Given the description of an element on the screen output the (x, y) to click on. 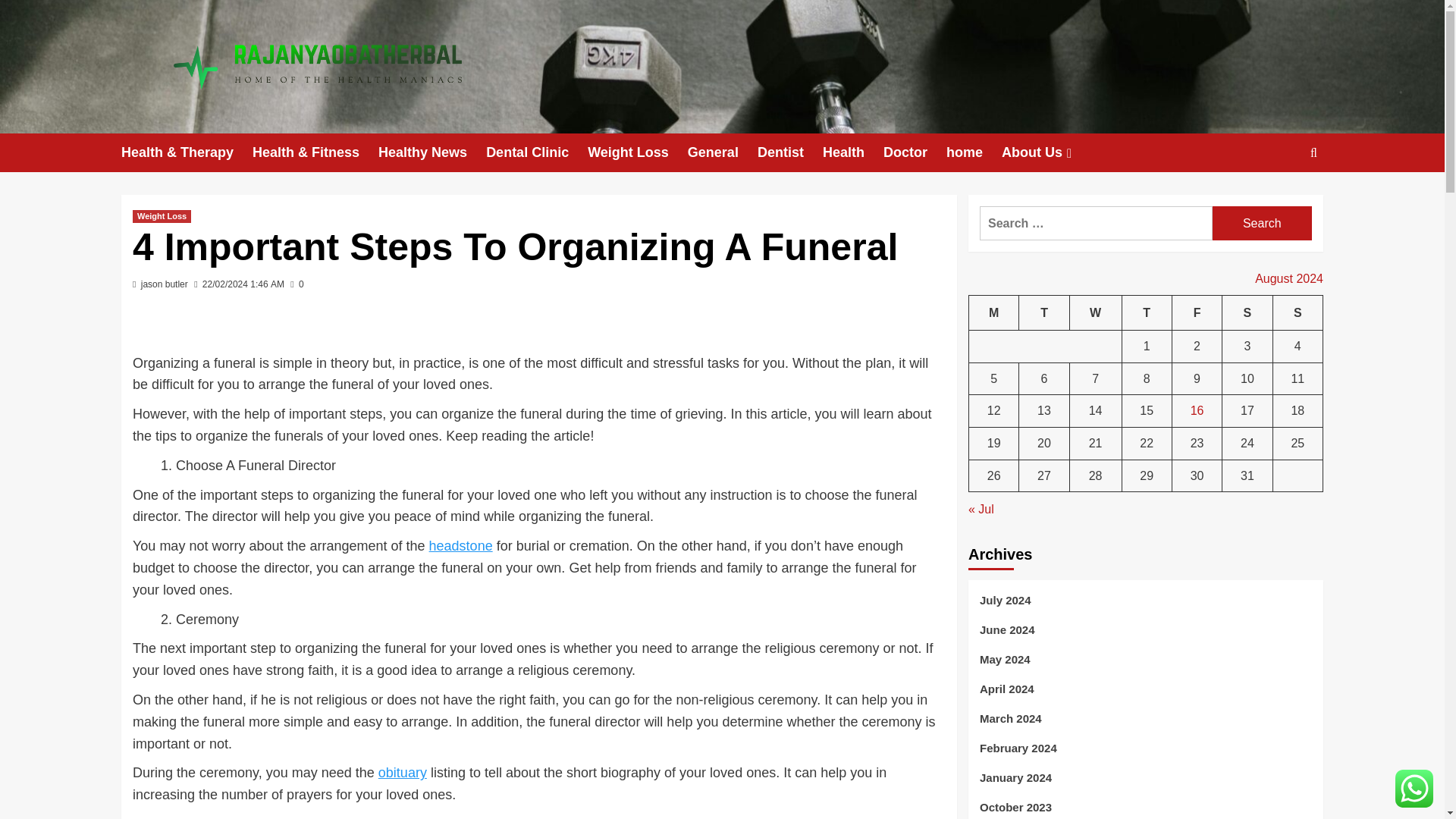
Dental Clinic (537, 152)
Search (1278, 199)
jason butler (164, 284)
General (722, 152)
Wednesday (1094, 312)
obituary (402, 772)
Weight Loss (161, 215)
Monday (994, 312)
Search (1261, 223)
Sunday (1297, 312)
